Given the description of an element on the screen output the (x, y) to click on. 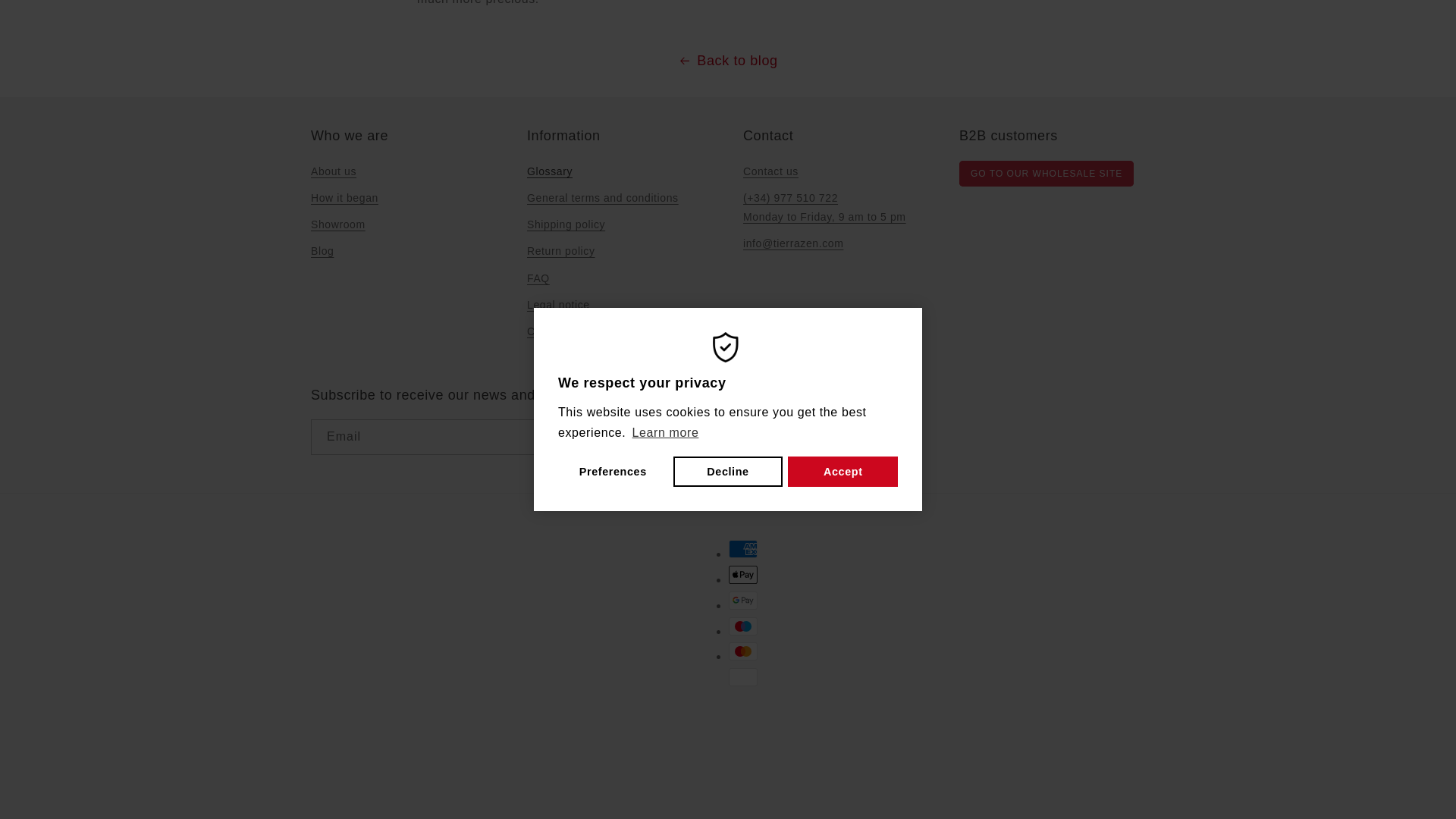
Mastercard (743, 651)
Apple Pay (743, 574)
Shop Pay (743, 702)
B2B Customers (1046, 173)
PayPal (743, 677)
Google Pay (743, 600)
Union Pay (743, 728)
American Express (743, 548)
Maestro (743, 626)
